Given the description of an element on the screen output the (x, y) to click on. 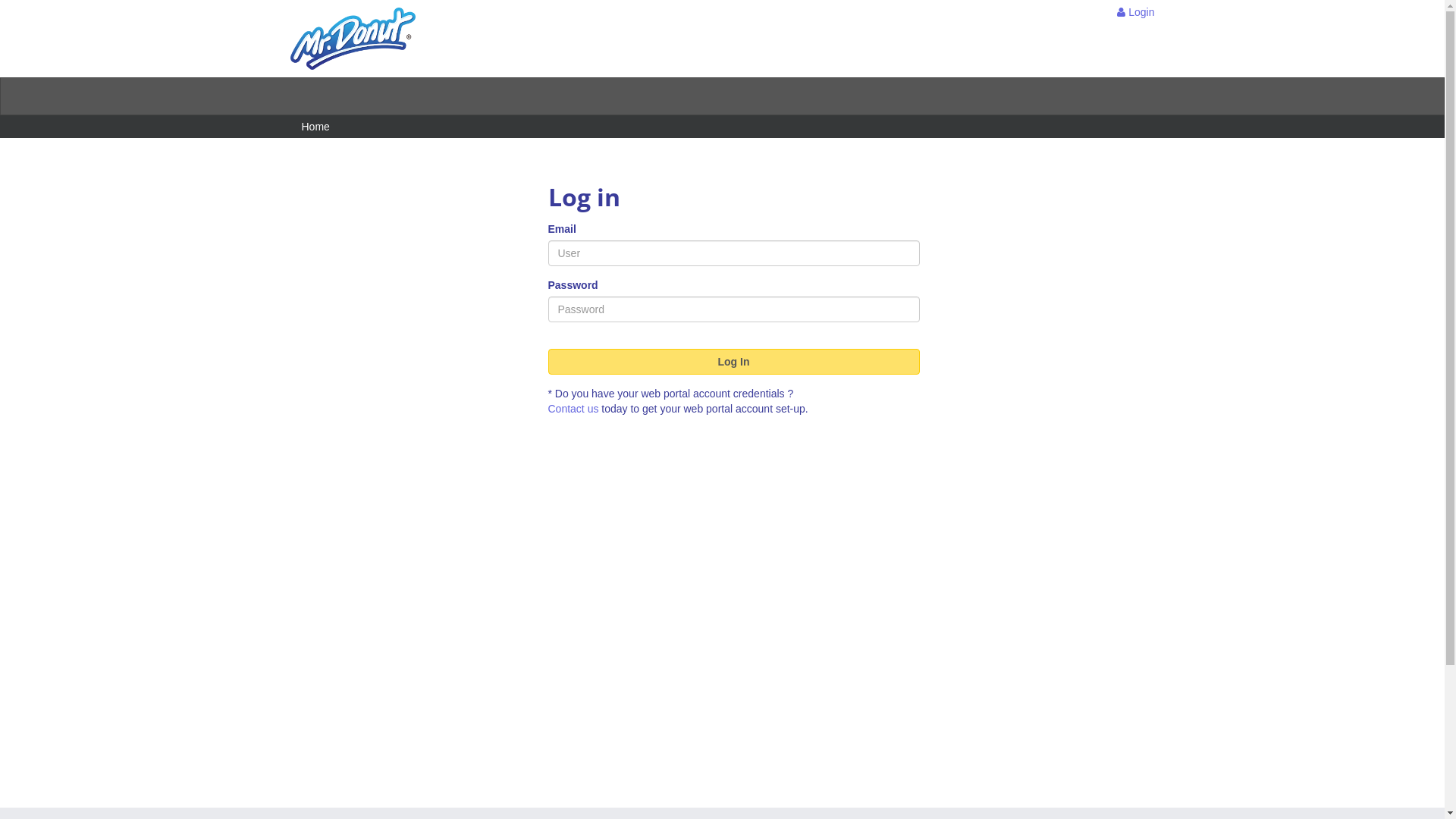
Log In Element type: text (733, 361)
Login Element type: text (1135, 12)
Contact us Element type: text (572, 408)
Home Element type: text (315, 126)
